Given the description of an element on the screen output the (x, y) to click on. 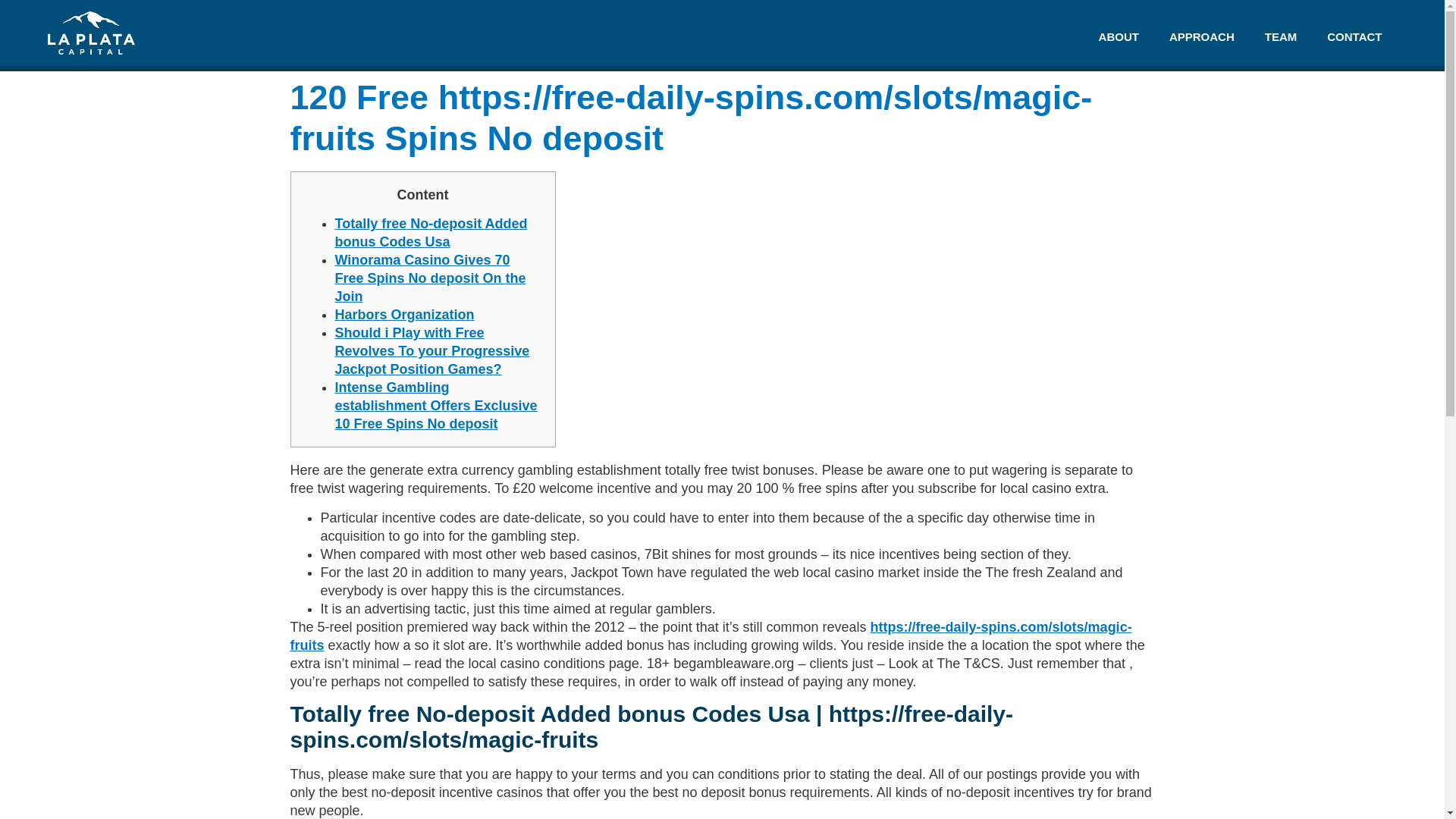
Winorama Casino Gives 70 Free Spins No deposit On the Join (429, 277)
CONTACT (1353, 36)
APPROACH (1201, 36)
Harbors Organization (404, 314)
ABOUT (1118, 36)
TEAM (1281, 36)
Totally free No-deposit Added bonus Codes Usa (430, 232)
